Given the description of an element on the screen output the (x, y) to click on. 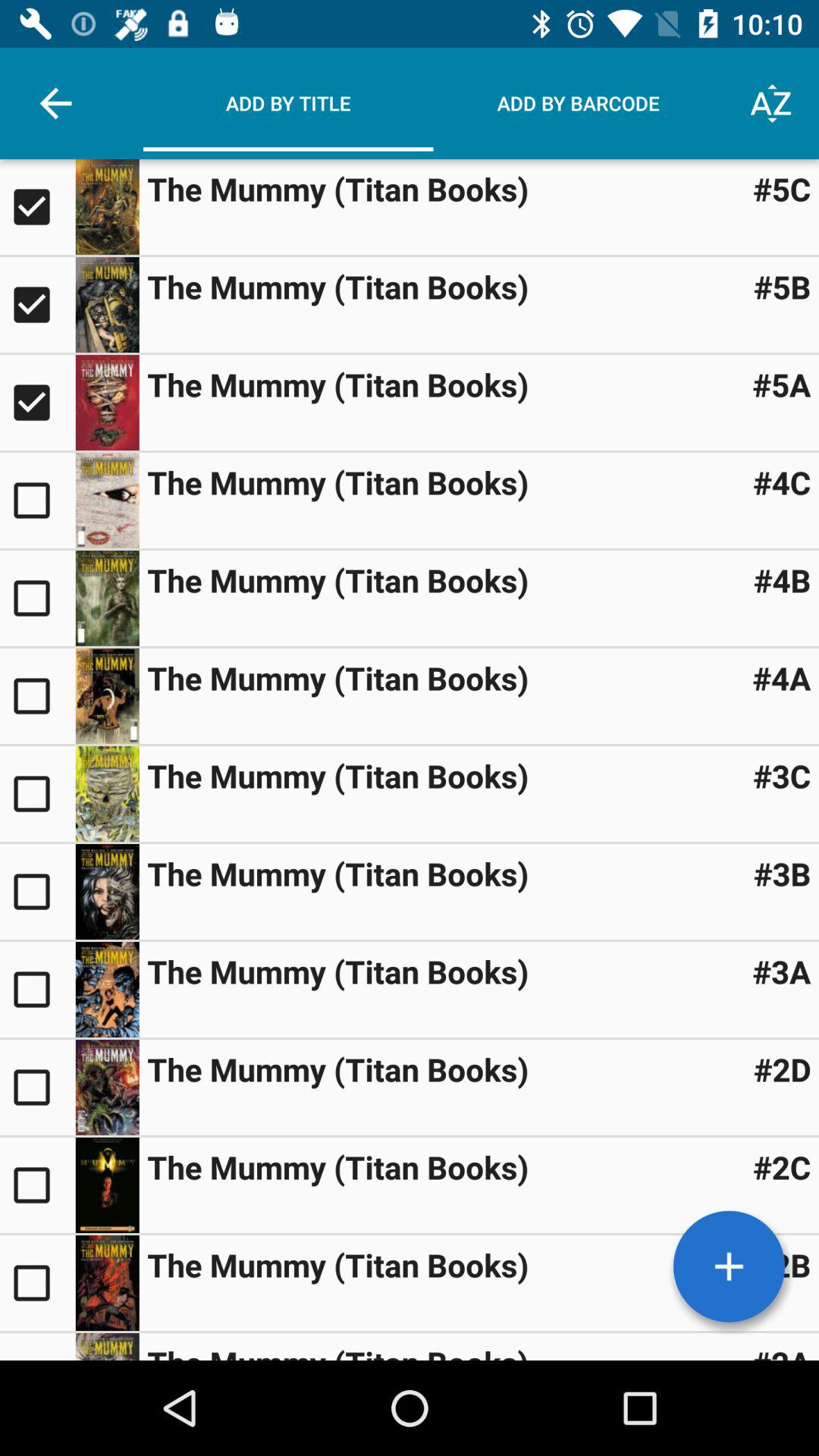
select option (37, 206)
